Given the description of an element on the screen output the (x, y) to click on. 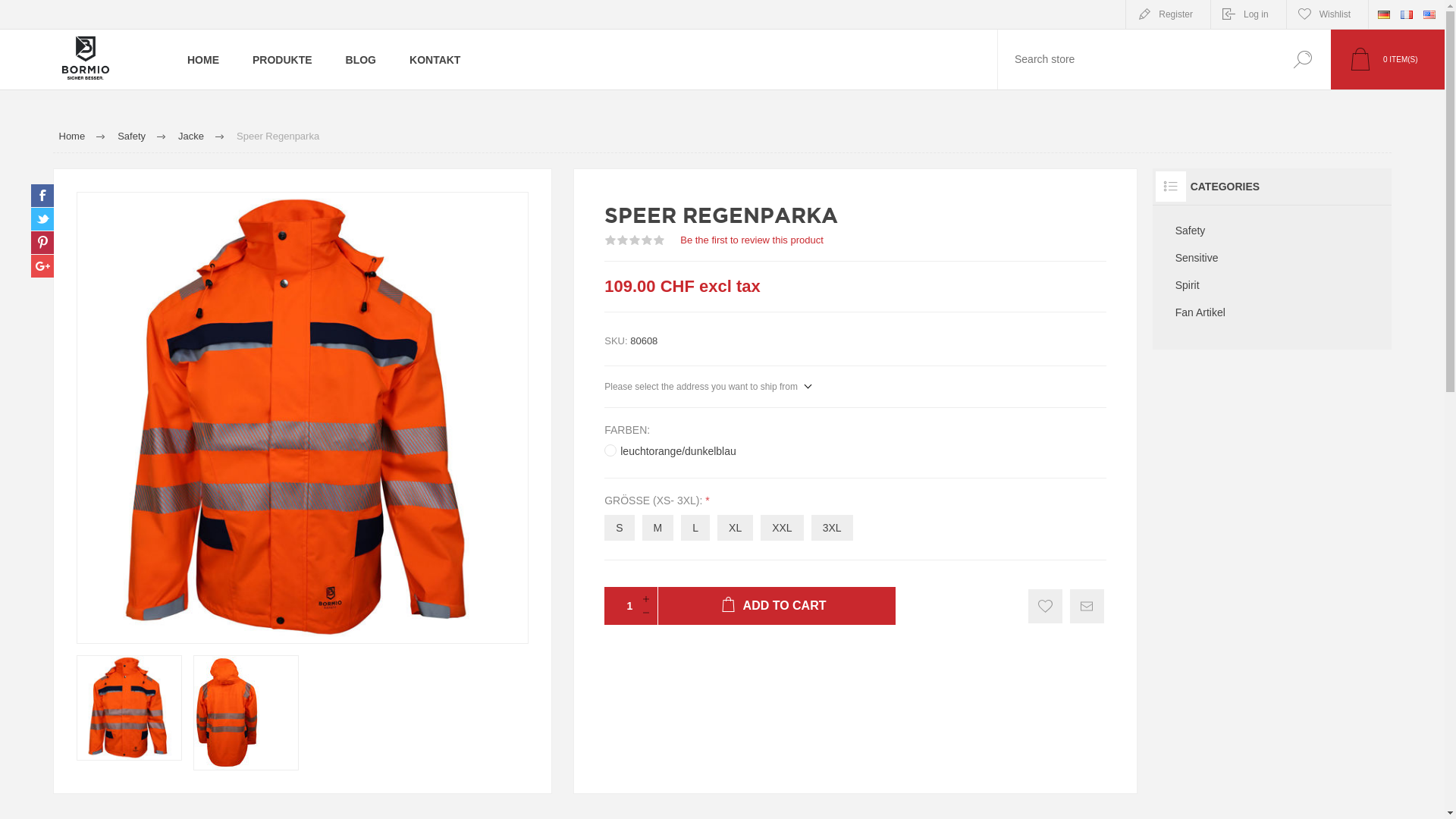
Safety Element type: text (131, 136)
sevenspikes.themes.pacific.common.sharetwitter Element type: text (42, 218)
Wishlist Element type: text (1327, 14)
Please select the address you want to ship from Element type: text (707, 386)
Spirit Element type: text (1271, 284)
German Element type: hover (1383, 14)
Fan Artikel Element type: text (1271, 312)
Search Element type: text (1302, 59)
Add to wishlist Element type: text (1045, 606)
Add to wishlist Element type: hover (1045, 606)
Picture of Speer Regenparka Element type: hover (129, 707)
Log in Element type: text (1248, 14)
French Element type: hover (1406, 14)
Be the first to review this product Element type: text (751, 239)
Picture of Speer Regenparka Element type: hover (245, 712)
sevenspikes.themes.pacific.common.sharefacebook Element type: text (42, 195)
Email a friend Element type: text (1087, 606)
sevenspikes.themes.pacific.common.sharegoogleplus Element type: text (42, 265)
Email a friend Element type: hover (1087, 606)
Picture of Speer Regenparka Element type: hover (302, 417)
0 ITEM(S) Element type: text (1387, 59)
Picture of Speer Regenparka Element type: hover (129, 707)
German Element type: hover (1383, 14)
BLOG Element type: text (360, 58)
KONTAKT Element type: text (434, 58)
Home Element type: text (72, 136)
ADD TO CART Element type: text (776, 605)
English Element type: hover (1429, 14)
French Element type: hover (1406, 14)
sevenspikes.themes.pacific.common.sharepinterest Element type: text (42, 242)
Sensitive Element type: text (1271, 257)
Register Element type: text (1168, 14)
HOME Element type: text (202, 58)
Safety Element type: text (1271, 230)
Jacke Element type: text (190, 136)
Picture of Speer Regenparka Element type: hover (226, 712)
English Element type: hover (1429, 14)
